Given the description of an element on the screen output the (x, y) to click on. 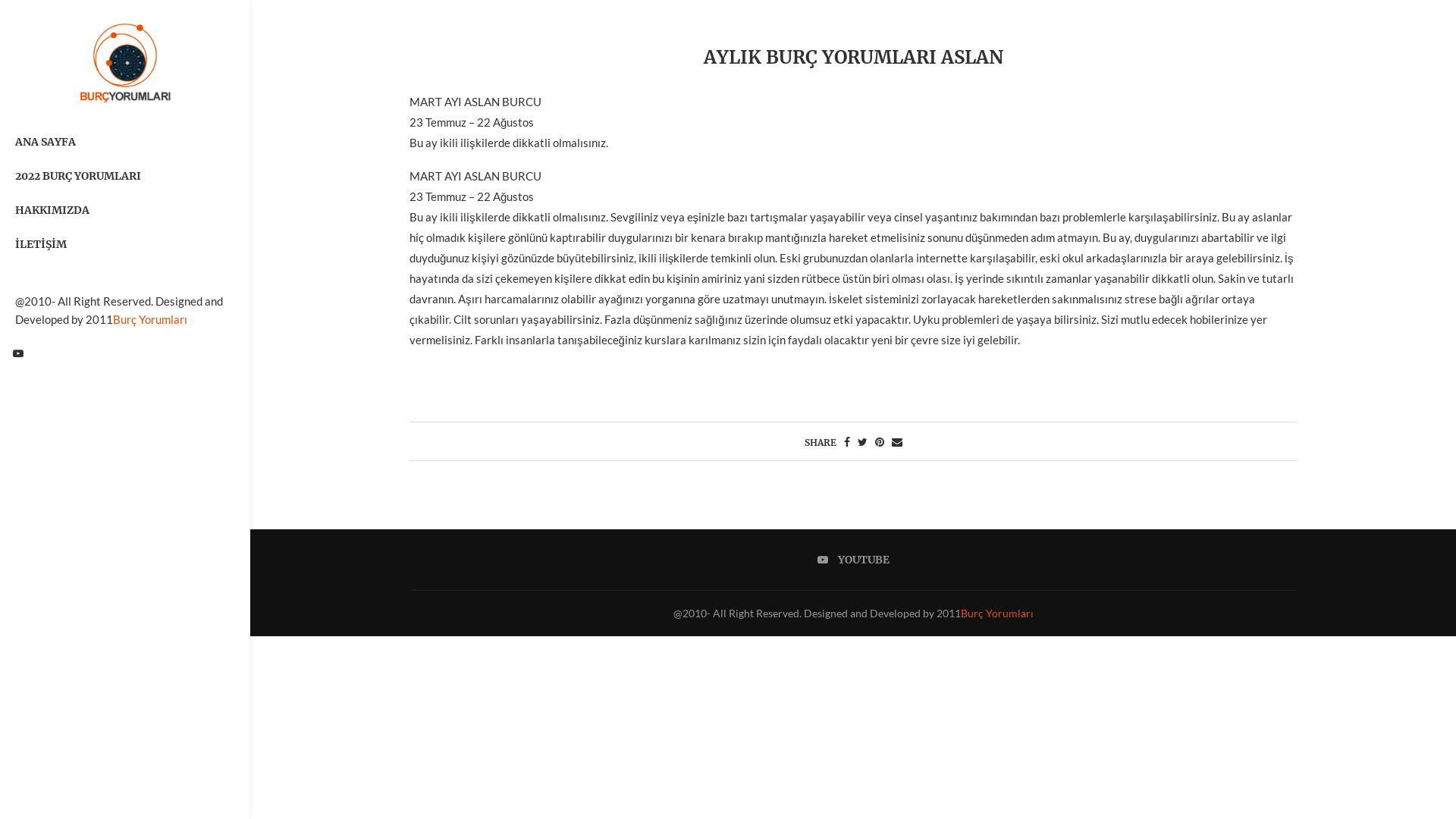
YOUTUBE Element type: text (853, 559)
ANA SAYFA Element type: text (125, 141)
HAKKIMIZDA Element type: text (125, 209)
